Given the description of an element on the screen output the (x, y) to click on. 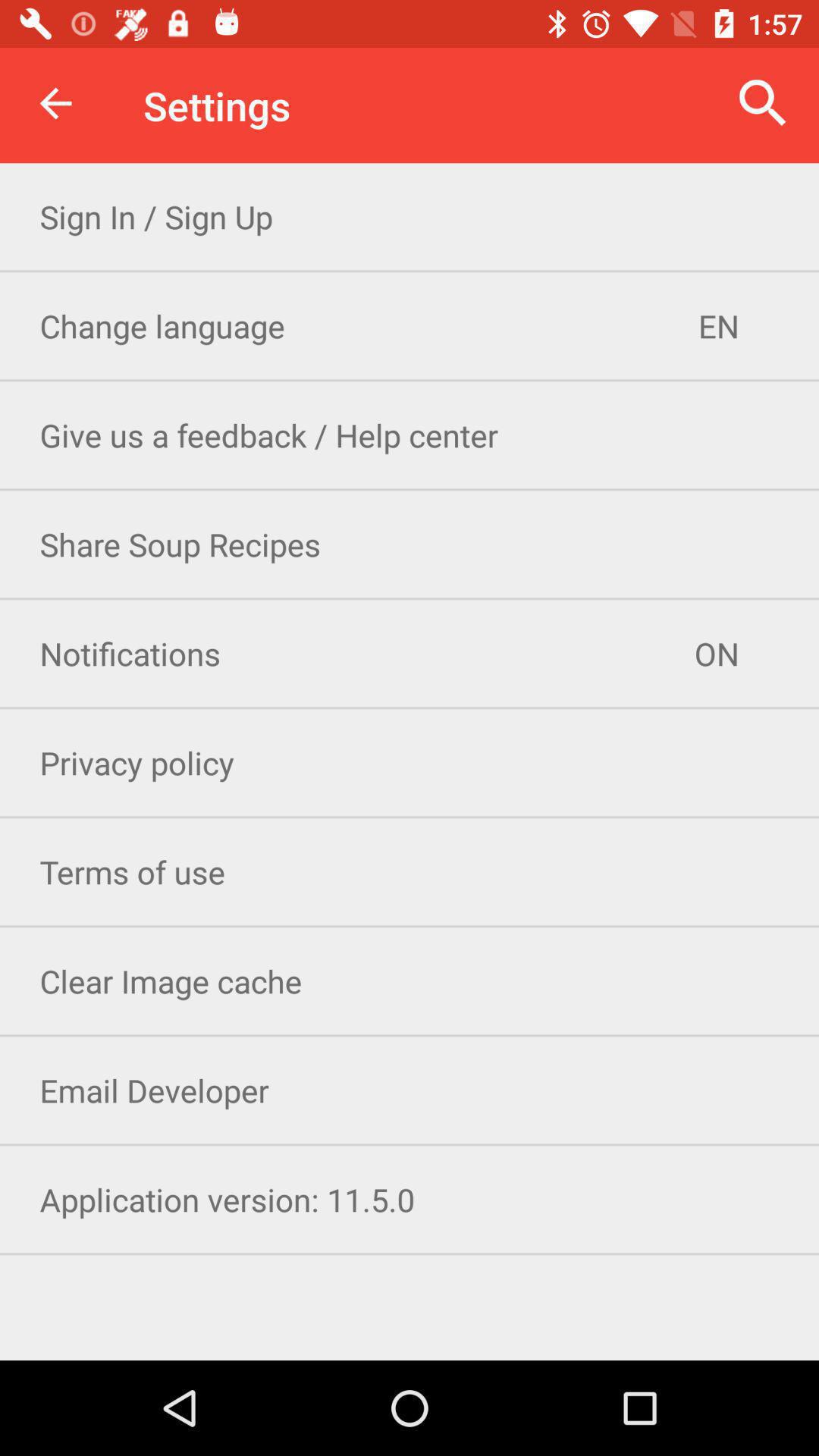
launch the icon next to the settings icon (55, 103)
